Given the description of an element on the screen output the (x, y) to click on. 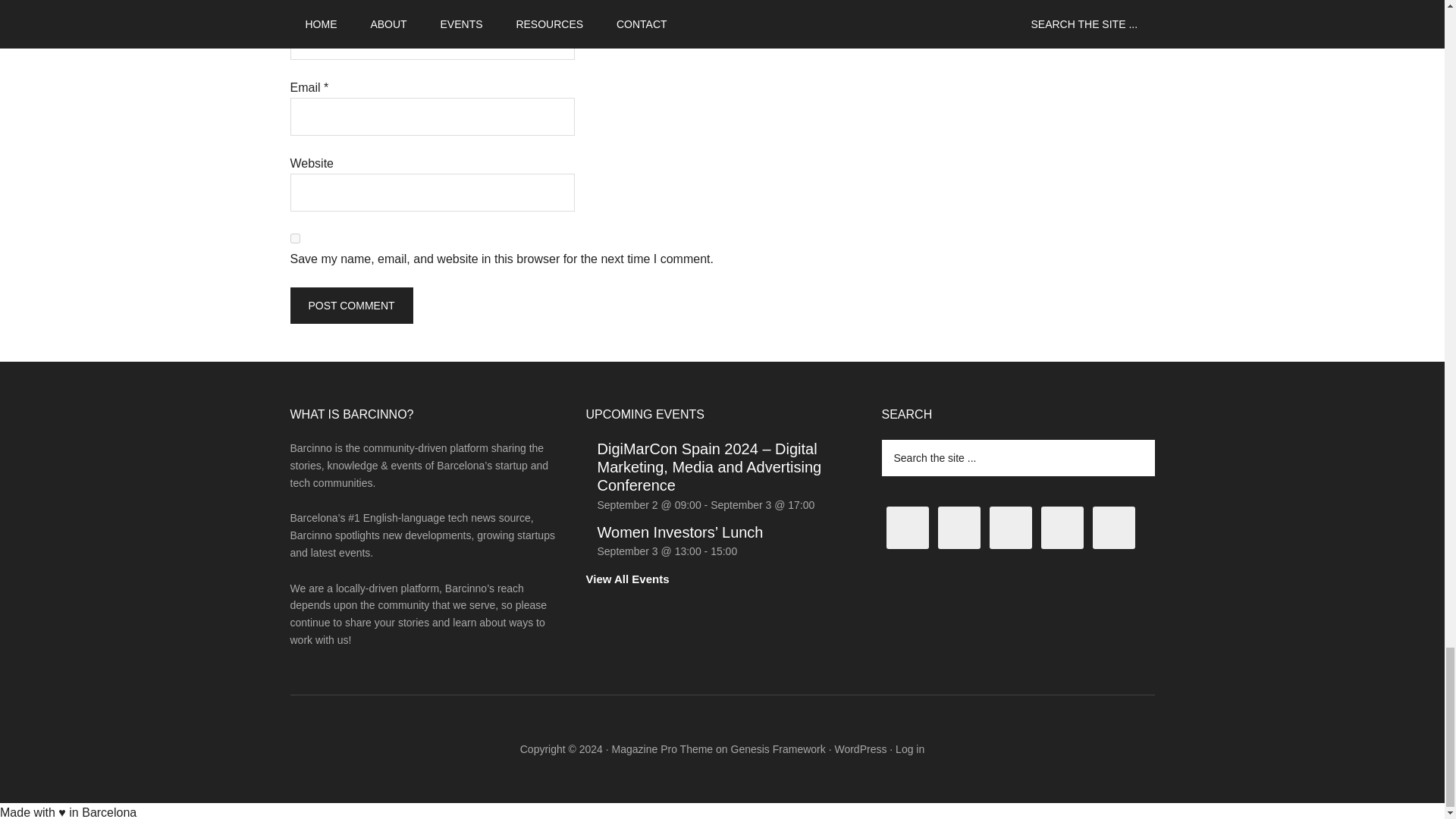
yes (294, 238)
Post Comment (350, 305)
